Given the description of an element on the screen output the (x, y) to click on. 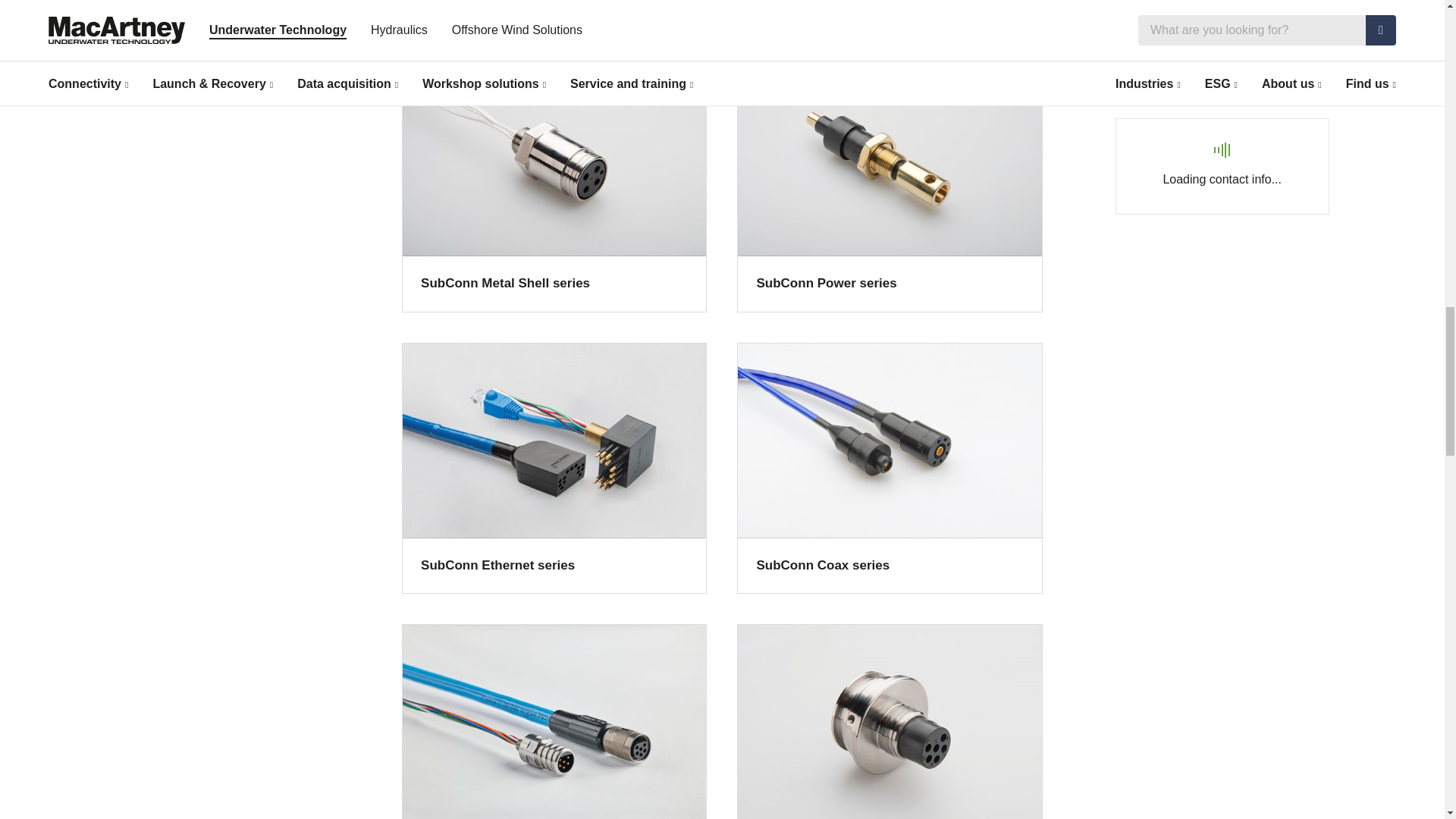
SubConn Ethernet series (553, 468)
SubConn Nano series (553, 721)
SubConn Coax series (889, 468)
SubConn Specials (889, 721)
SubConn Micro Low Profile series (889, 15)
SubConn Power series (889, 186)
SubConn Low Profile series (553, 15)
SubConn Metal Shell series (553, 186)
